Given the description of an element on the screen output the (x, y) to click on. 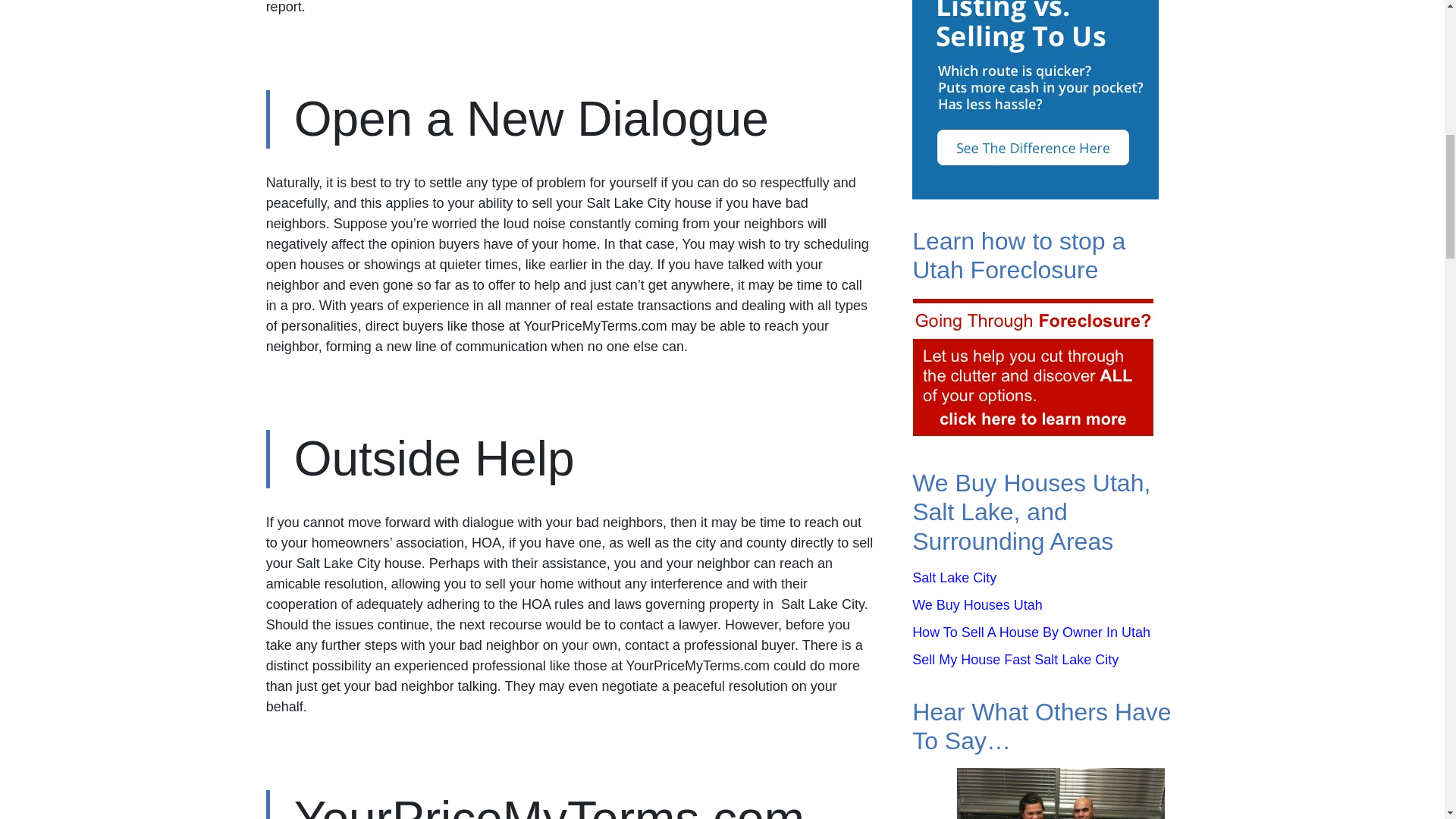
Learn how to stop foreclosure in Utah (1034, 368)
Sell My House Fast Salt Lake City (1015, 659)
We buy houses Salt Lake City (953, 577)
We Buy Houses Utah (977, 604)
How To Sell A House By Owner In Utah (1031, 631)
Sell My House Fast Salt Lake City (1015, 659)
We Buy Houses Utah (977, 604)
How To Sell A House By Owner In Utah (1031, 631)
Salt Lake City (953, 577)
Listing VS Selling A Home in Utah (1035, 78)
